Given the description of an element on the screen output the (x, y) to click on. 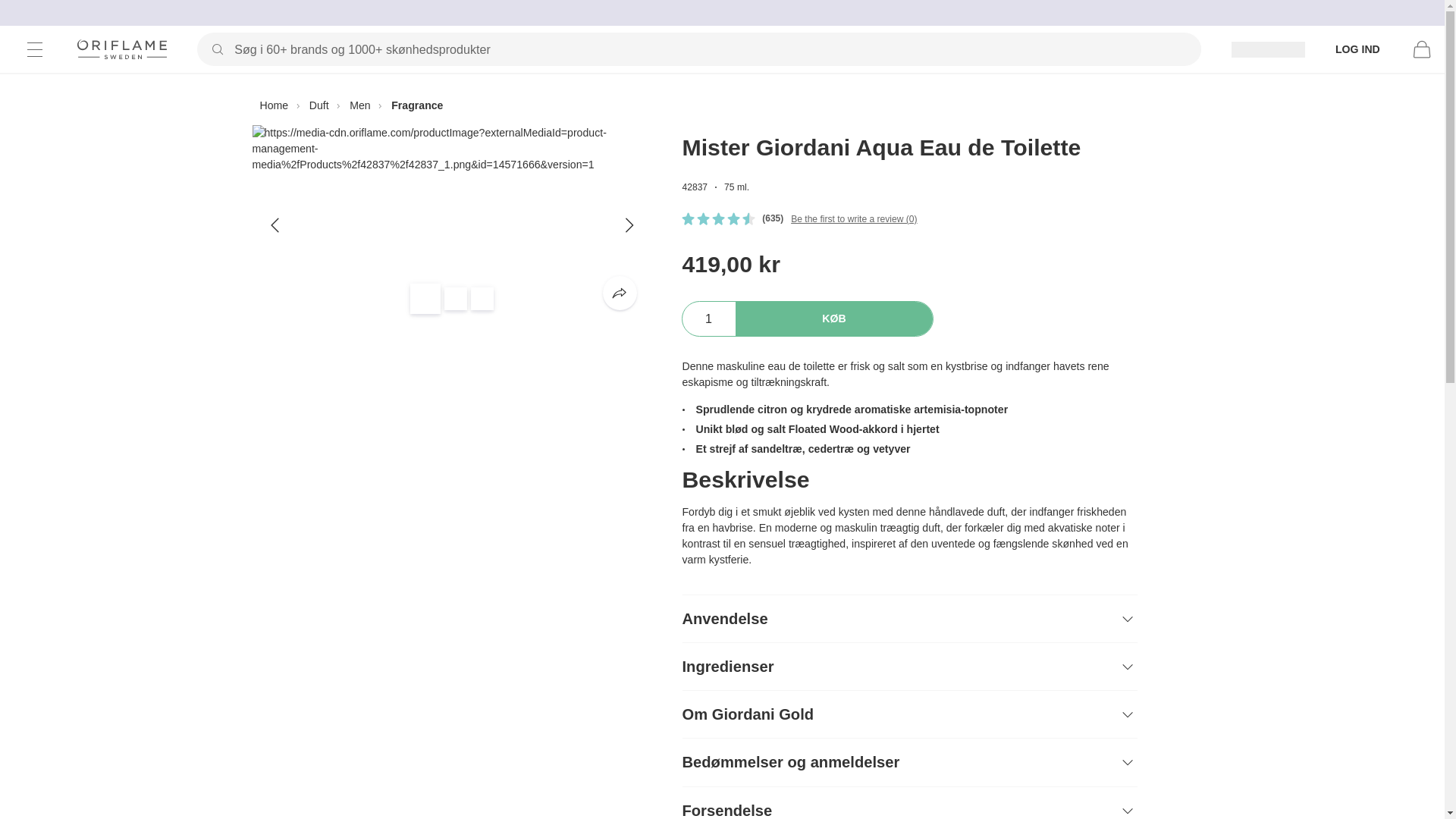
Home (273, 105)
Fragrance (416, 105)
GIORDANI GOLD (734, 119)
Duft (318, 105)
LOG IND (1357, 49)
1 (708, 318)
Men (359, 105)
